Given the description of an element on the screen output the (x, y) to click on. 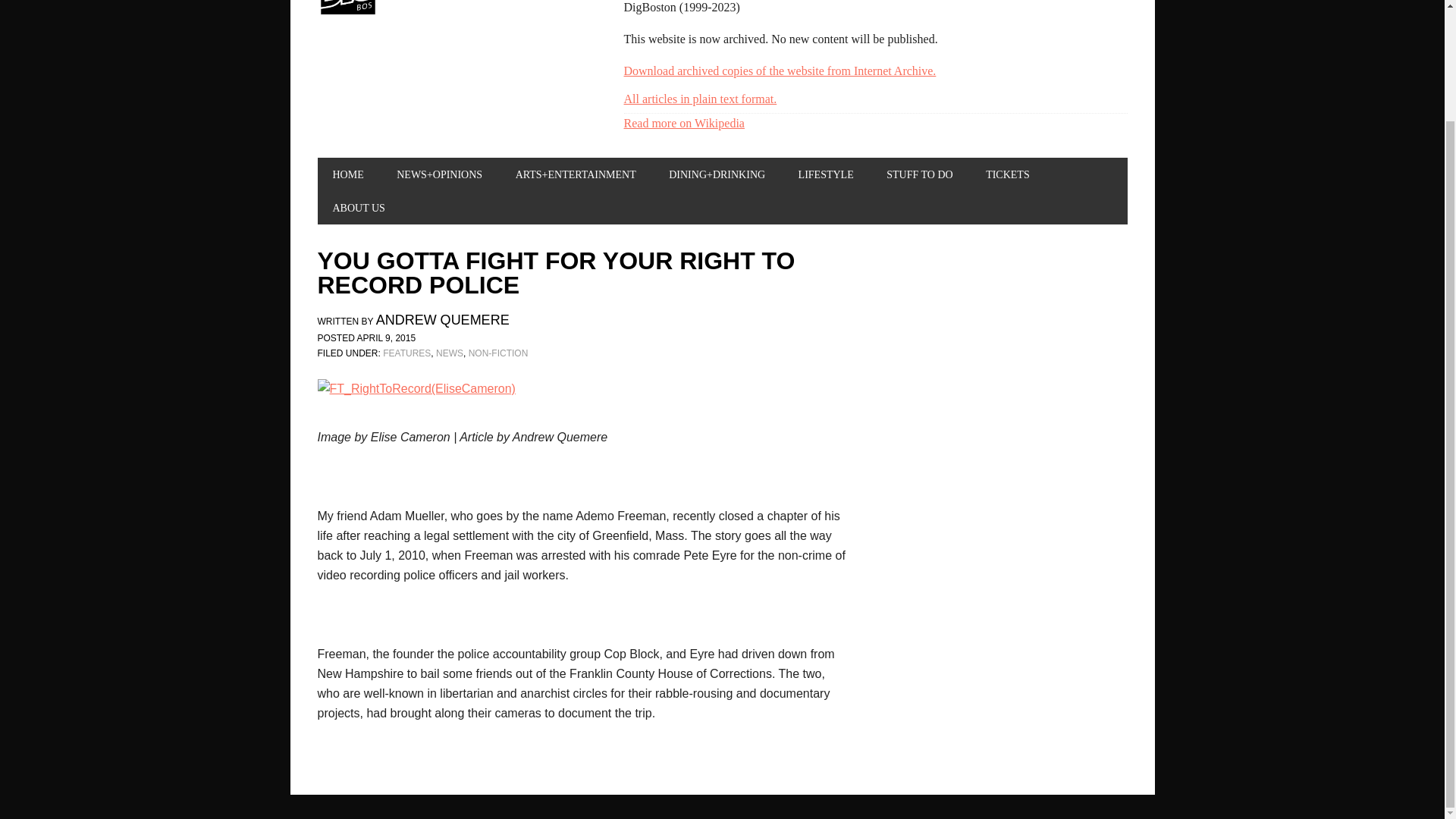
HOME (347, 174)
Read more on Wikipedia (683, 123)
All articles in plain text format. (699, 98)
